Given the description of an element on the screen output the (x, y) to click on. 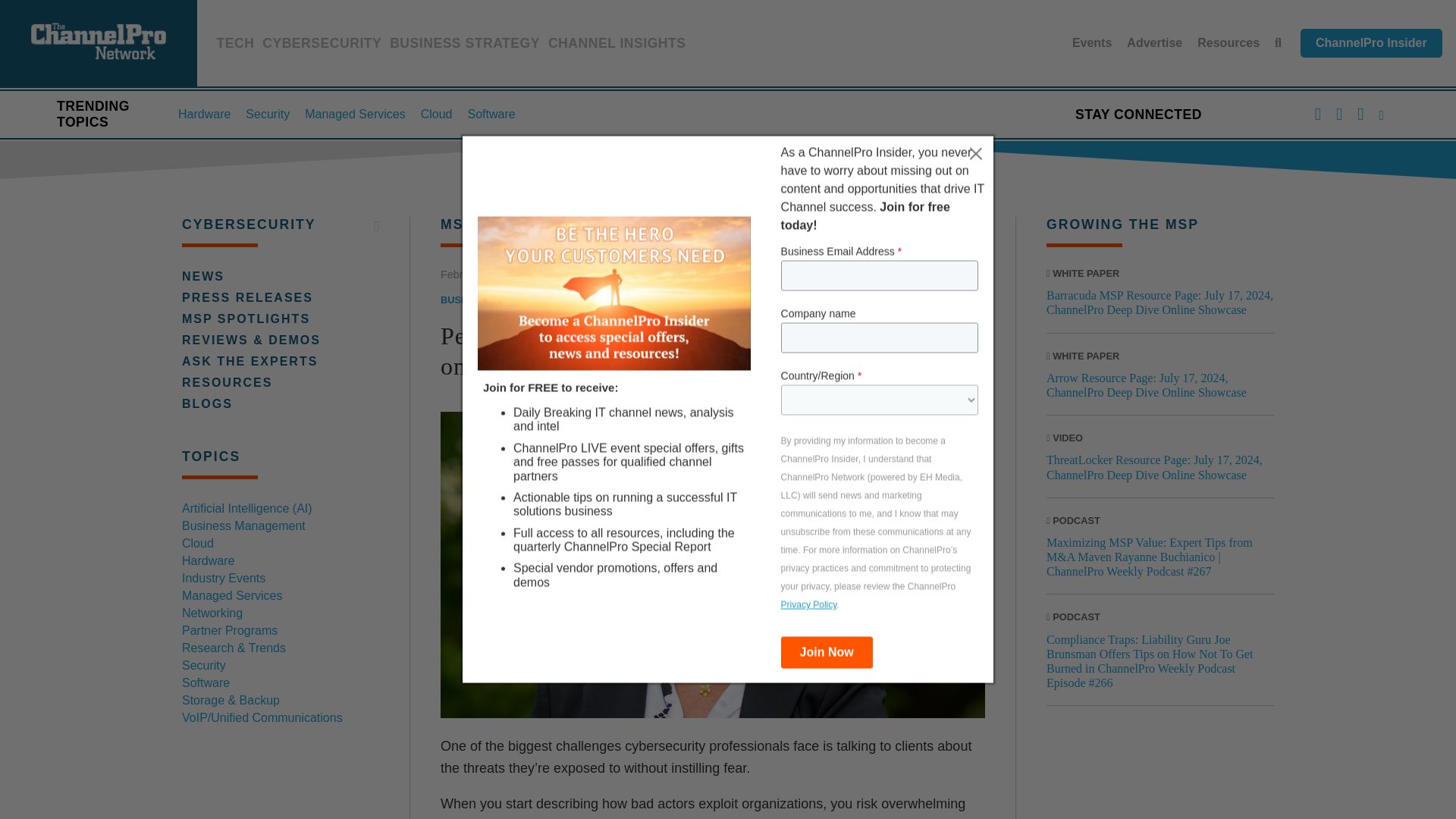
CYBERSECURITY (322, 45)
3rd party ad content (1160, 773)
Advertise (1154, 42)
Events (1091, 42)
ChannelPro Insider (1371, 42)
Resources (1227, 42)
BUSINESS STRATEGY (464, 45)
ChannelPro Insider (1371, 42)
CHANNEL INSIGHTS (616, 45)
